Given the description of an element on the screen output the (x, y) to click on. 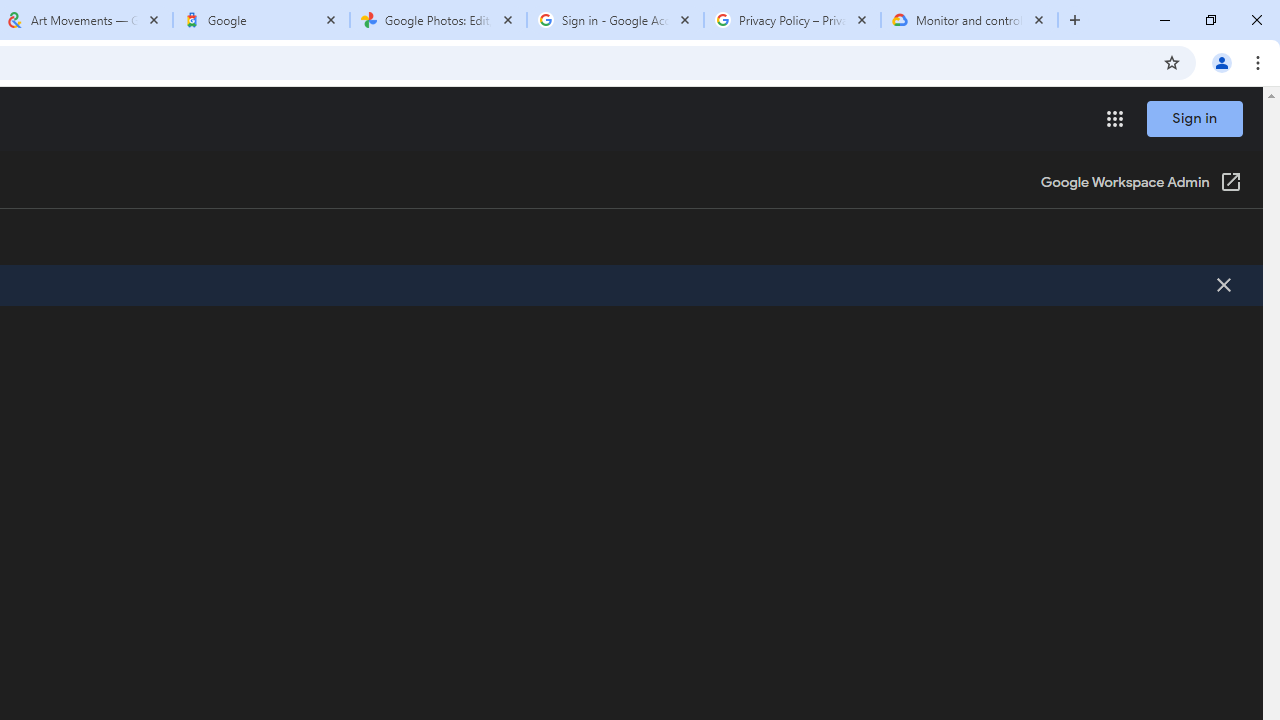
Google (260, 20)
